Given the description of an element on the screen output the (x, y) to click on. 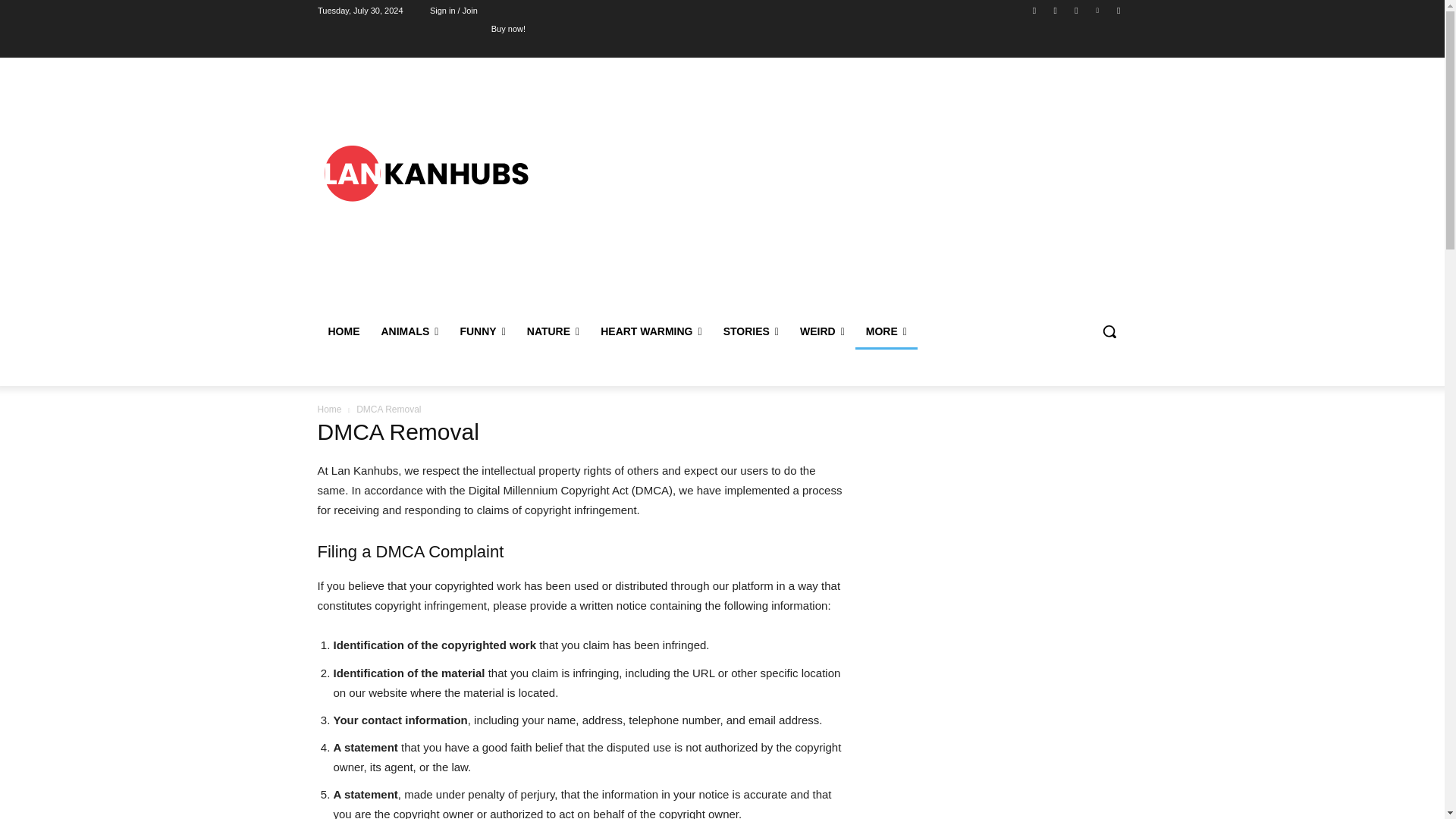
Youtube (1117, 9)
Buy now! (508, 28)
Twitter (1075, 9)
Instagram (1055, 9)
ANIMALS (408, 330)
HOME (343, 330)
Facebook (1034, 9)
Vimeo (1097, 9)
